Given the description of an element on the screen output the (x, y) to click on. 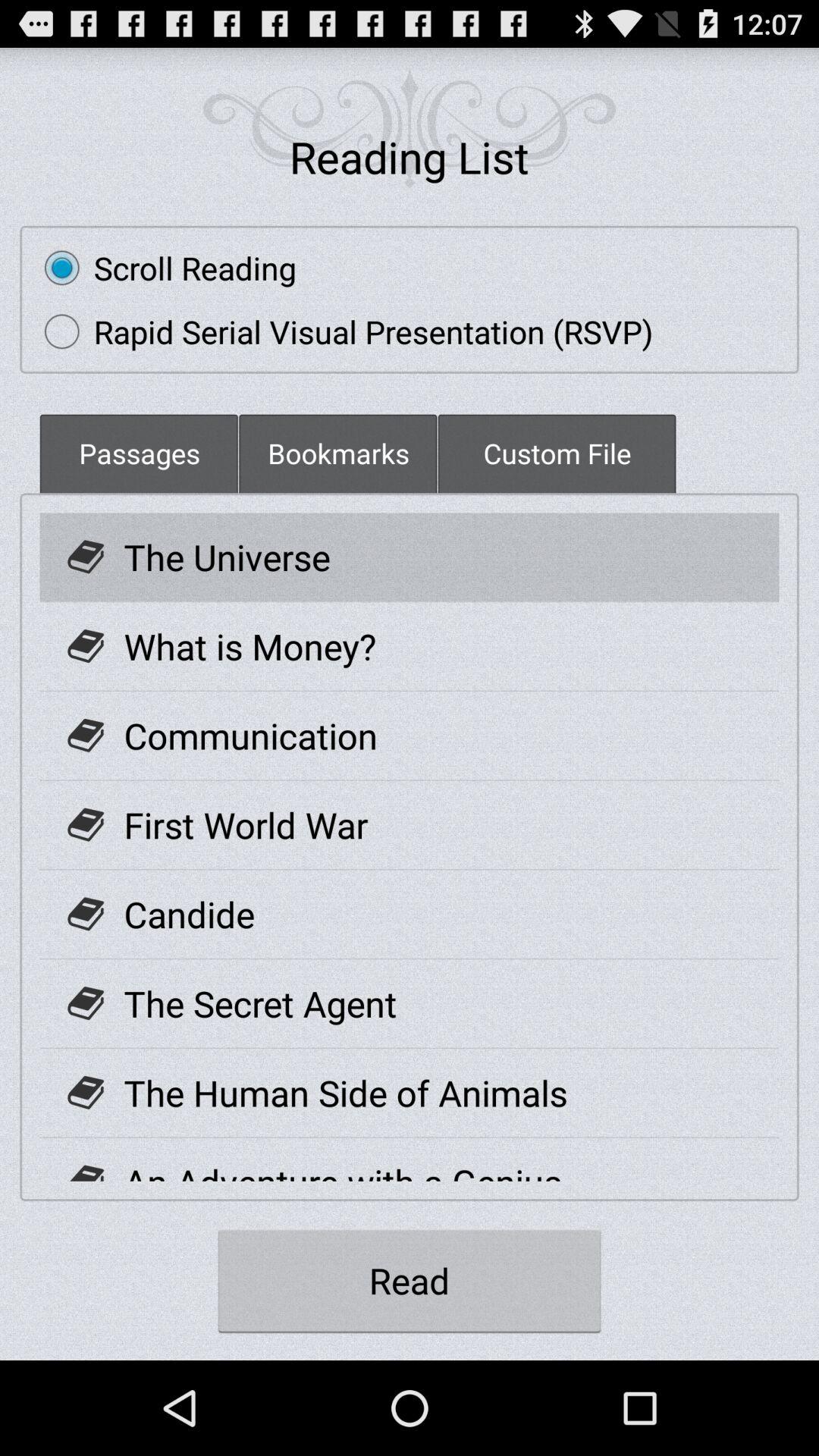
swipe to the scroll reading icon (163, 267)
